Given the description of an element on the screen output the (x, y) to click on. 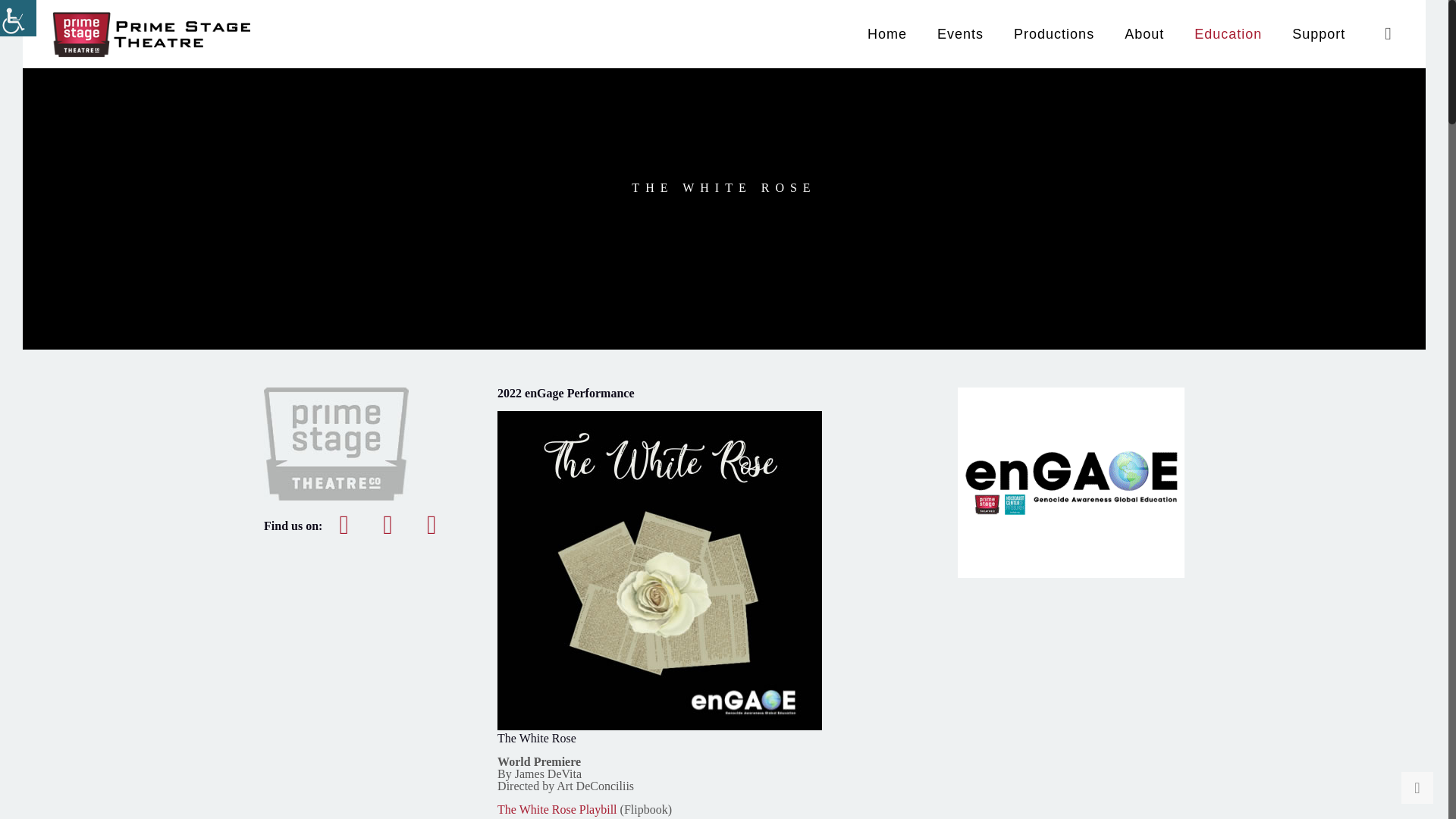
Events (959, 33)
Home (886, 33)
Productions (1053, 33)
About (1144, 33)
